Given the description of an element on the screen output the (x, y) to click on. 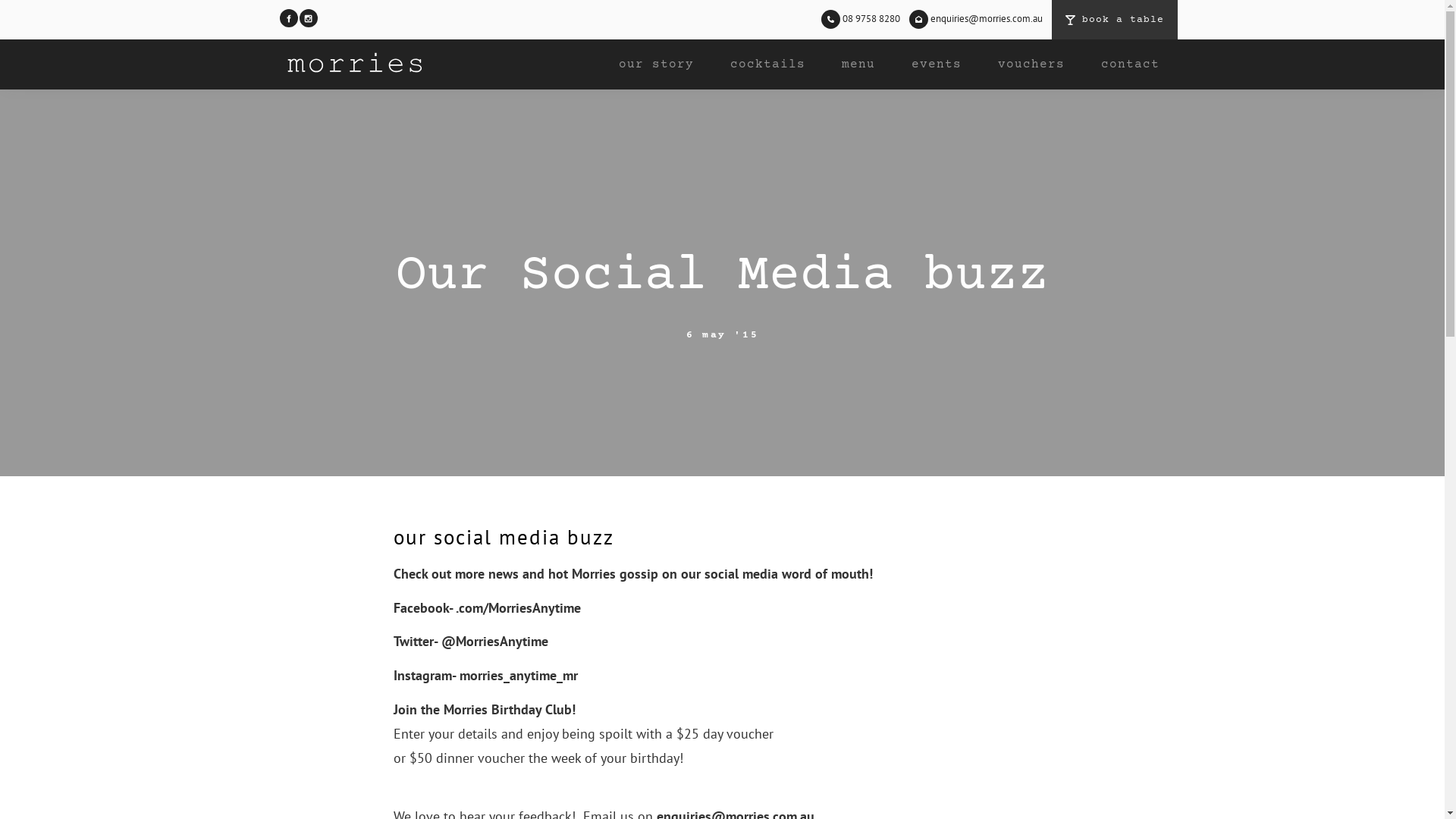
book a table Element type: text (1113, 19)
contact Element type: text (1129, 64)
events Element type: text (936, 64)
Instagram- morries_anytime_mr Element type: text (484, 675)
Facebook- .com/MorriesAnytime Element type: text (486, 607)
vouchers Element type: text (1030, 64)
Instagram Element type: hover (307, 18)
Join the Morries Birthday Club! Element type: text (483, 709)
08 9758 8280    Element type: text (863, 18)
cocktails Element type: text (766, 64)
Facebook Element type: hover (288, 18)
enquiries@morries.com.au  Element type: text (976, 18)
Twitter- @MorriesAnytime Element type: text (469, 640)
our story Element type: text (656, 64)
menu Element type: text (858, 64)
